Given the description of an element on the screen output the (x, y) to click on. 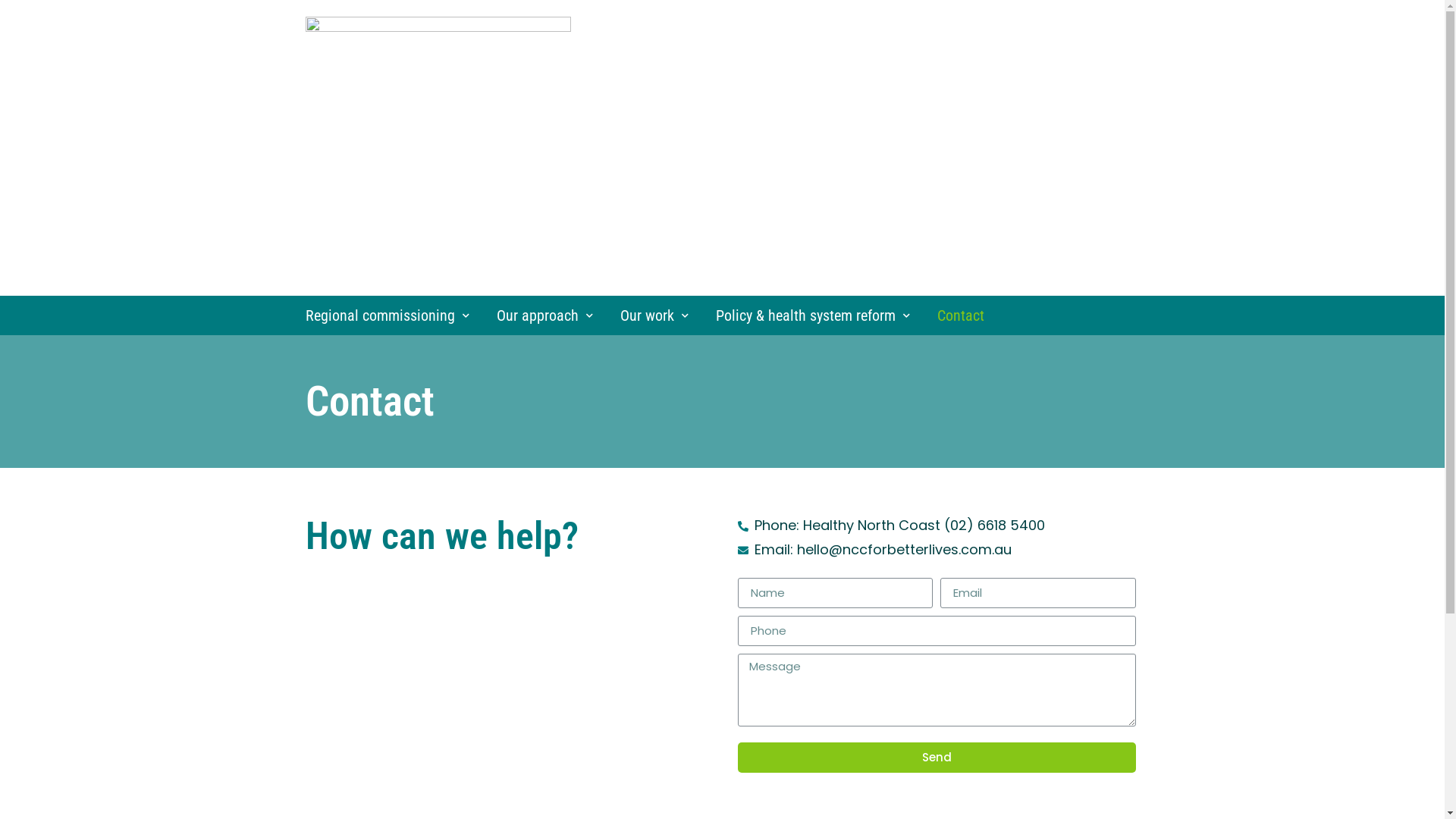
Send Element type: text (936, 757)
Our work Element type: text (648, 315)
Phone: Healthy North Coast (02) 6618 5400 Element type: text (936, 525)
Contact Element type: text (954, 315)
Regional commissioning Element type: text (386, 315)
Policy & health system reform Element type: text (806, 315)
Email: hello@nccforbetterlives.com.au Element type: text (936, 549)
Our approach Element type: text (537, 315)
